Given the description of an element on the screen output the (x, y) to click on. 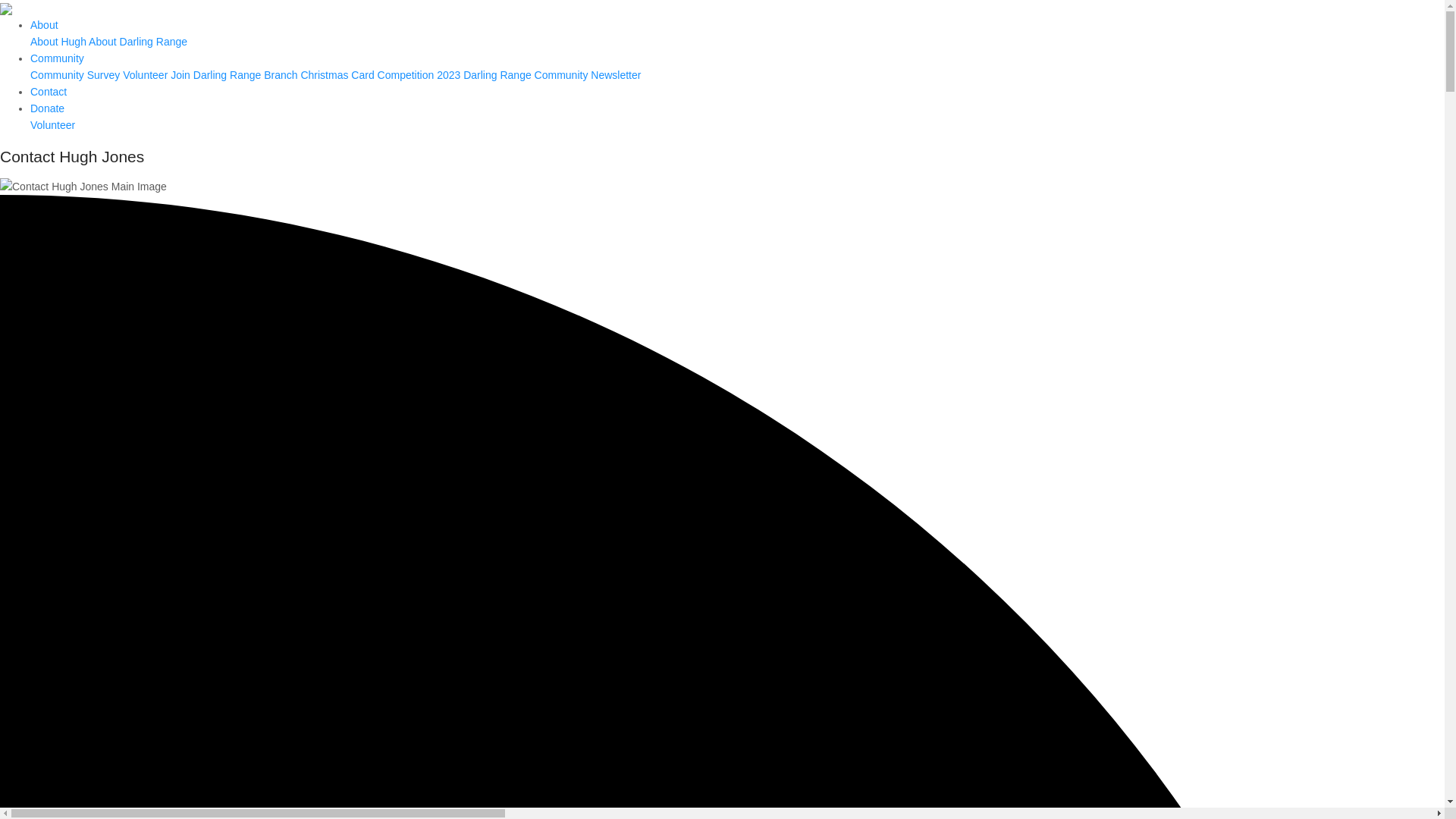
Darling Range Community Newsletter Element type: text (551, 75)
Community Element type: text (57, 58)
About Element type: text (44, 24)
Christmas Card Competition 2023 Element type: text (380, 75)
Contact Element type: text (48, 91)
About Darling Range Element type: text (137, 41)
About Hugh Element type: text (58, 41)
Donate Element type: text (47, 108)
Join Darling Range Branch Element type: text (233, 75)
Volunteer Element type: text (144, 75)
Volunteer Element type: text (52, 125)
Community Survey Element type: text (74, 75)
